Given the description of an element on the screen output the (x, y) to click on. 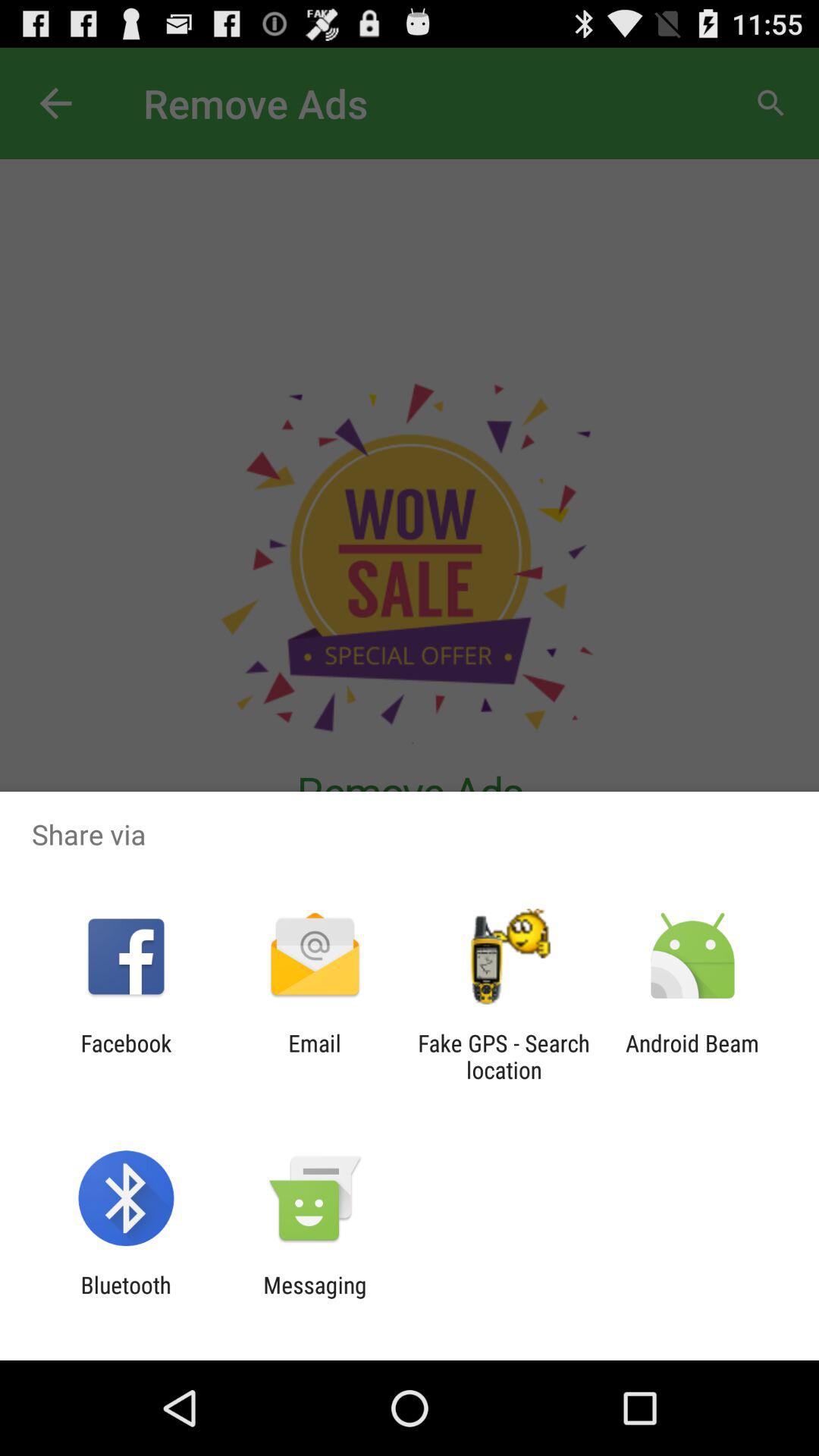
select the android beam (692, 1056)
